Given the description of an element on the screen output the (x, y) to click on. 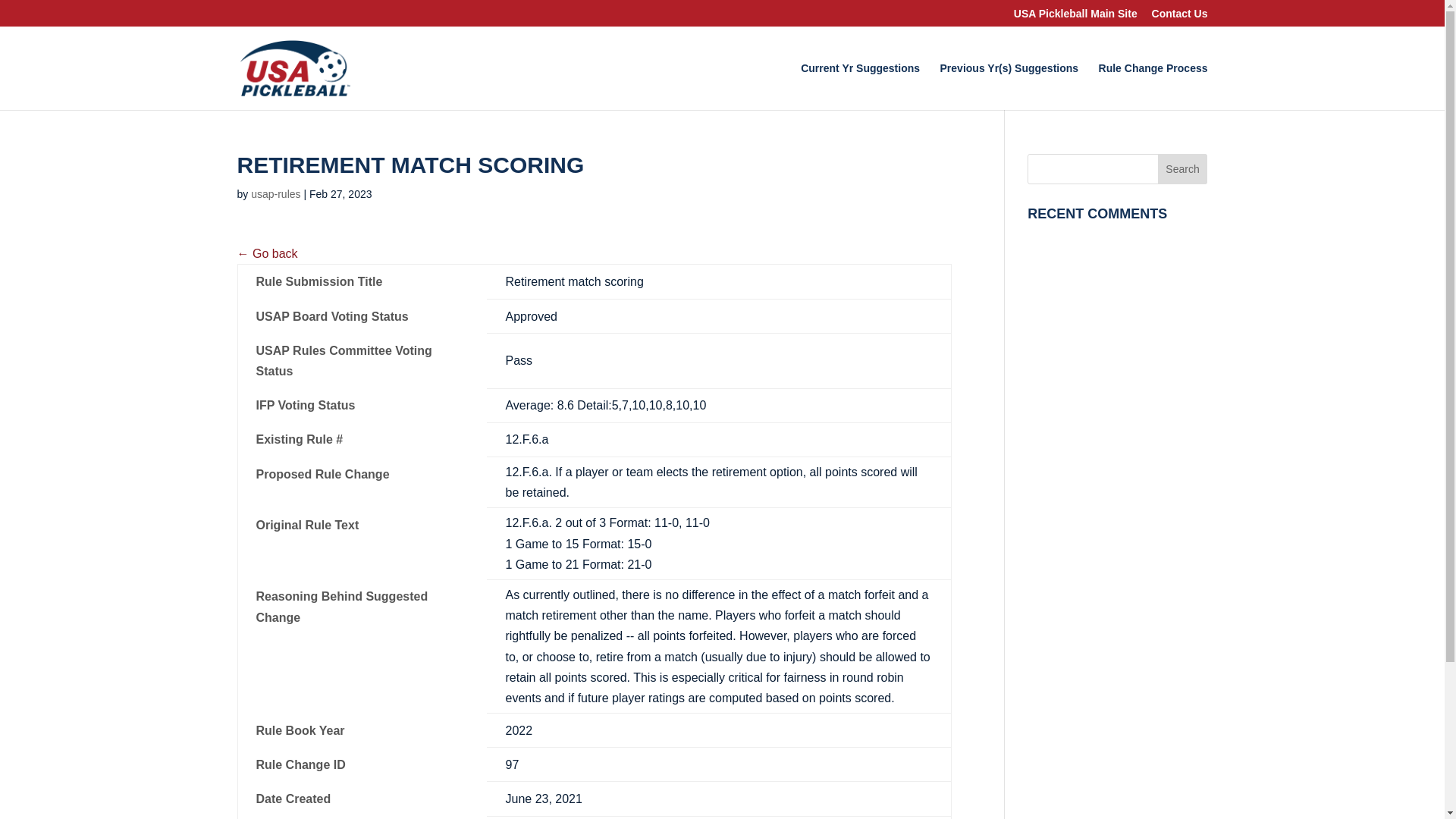
Rule Change Process (1153, 86)
Search (1182, 168)
USA Pickleball Main Site (1075, 16)
Posts by usap-rules (274, 193)
Search (1182, 168)
Current Yr Suggestions (860, 86)
usap-rules (274, 193)
Contact Us (1179, 16)
